Given the description of an element on the screen output the (x, y) to click on. 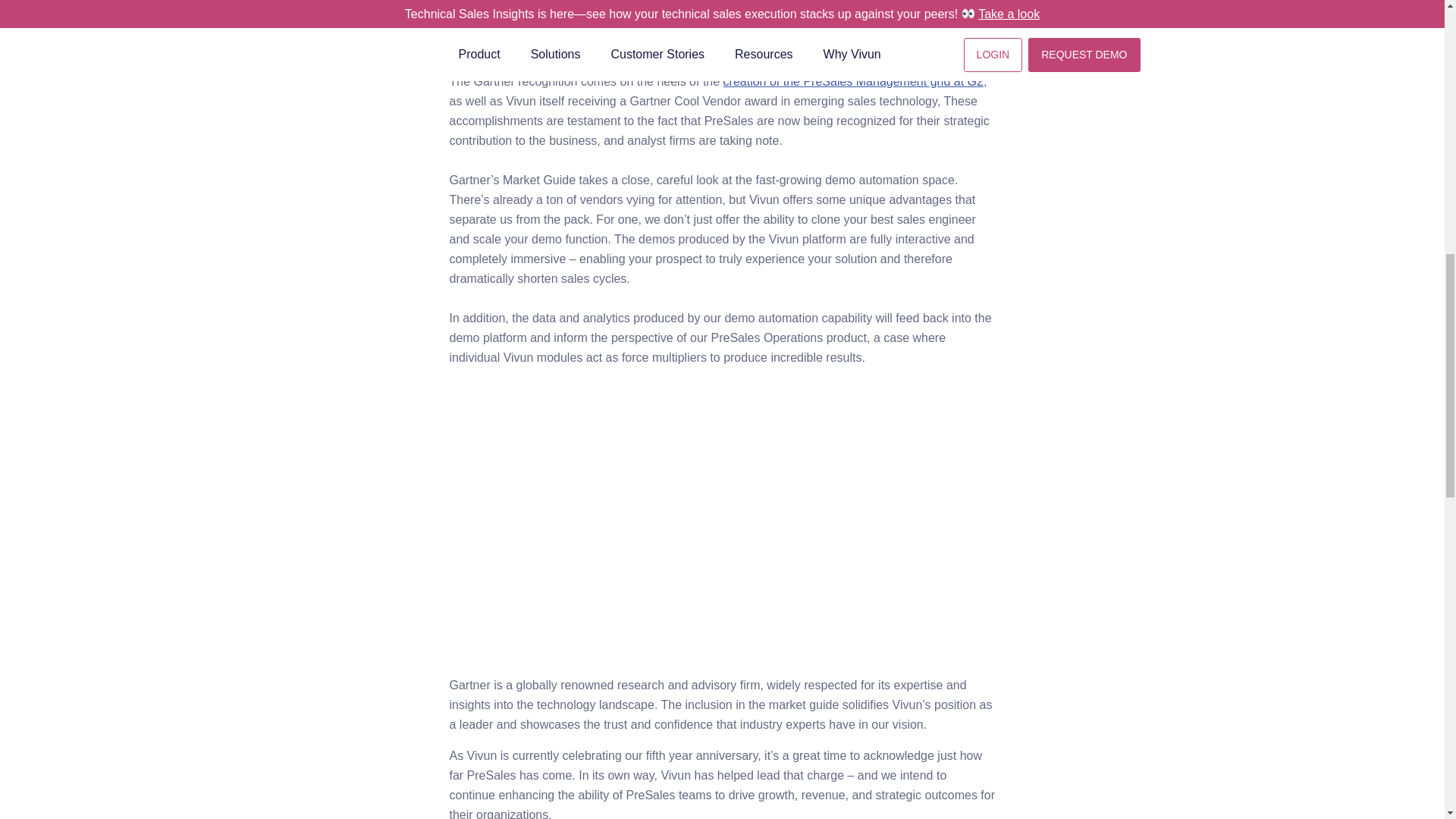
creation of the PreSales Management grid at G2 (853, 81)
